Given the description of an element on the screen output the (x, y) to click on. 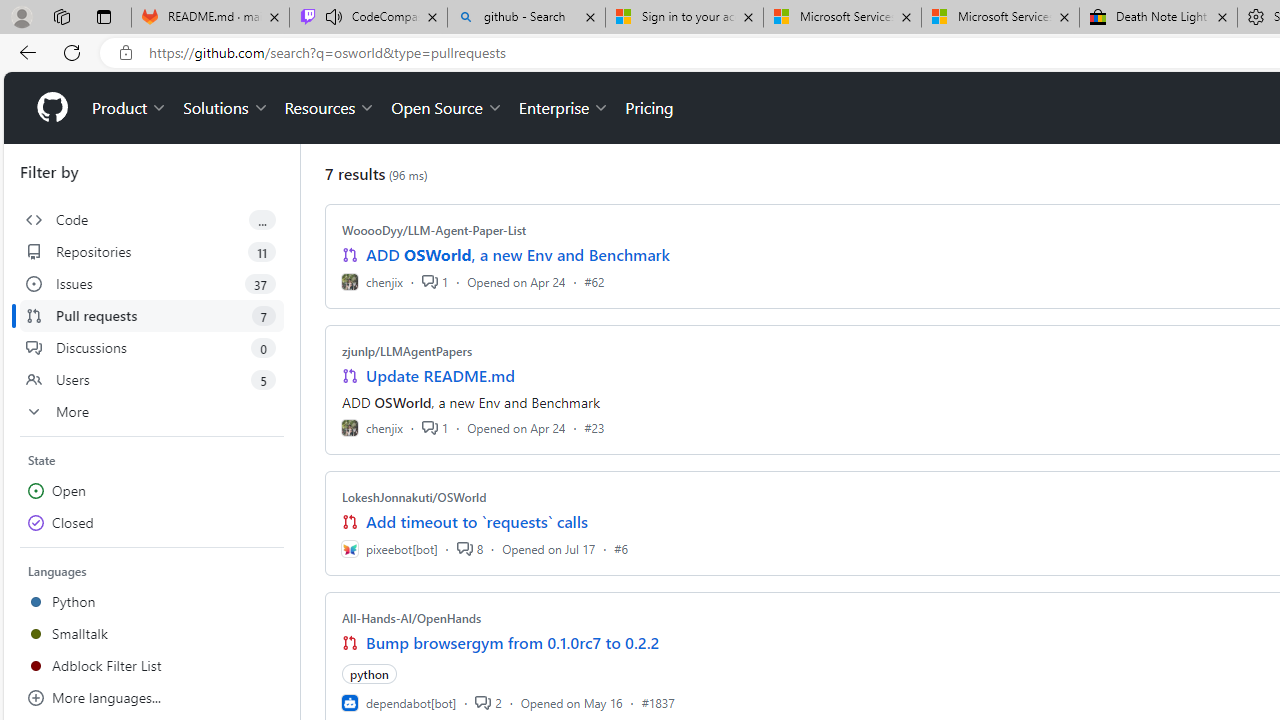
Product (130, 107)
Enterprise (563, 107)
zjunlp/LLMAgentPapers (407, 351)
